Given the description of an element on the screen output the (x, y) to click on. 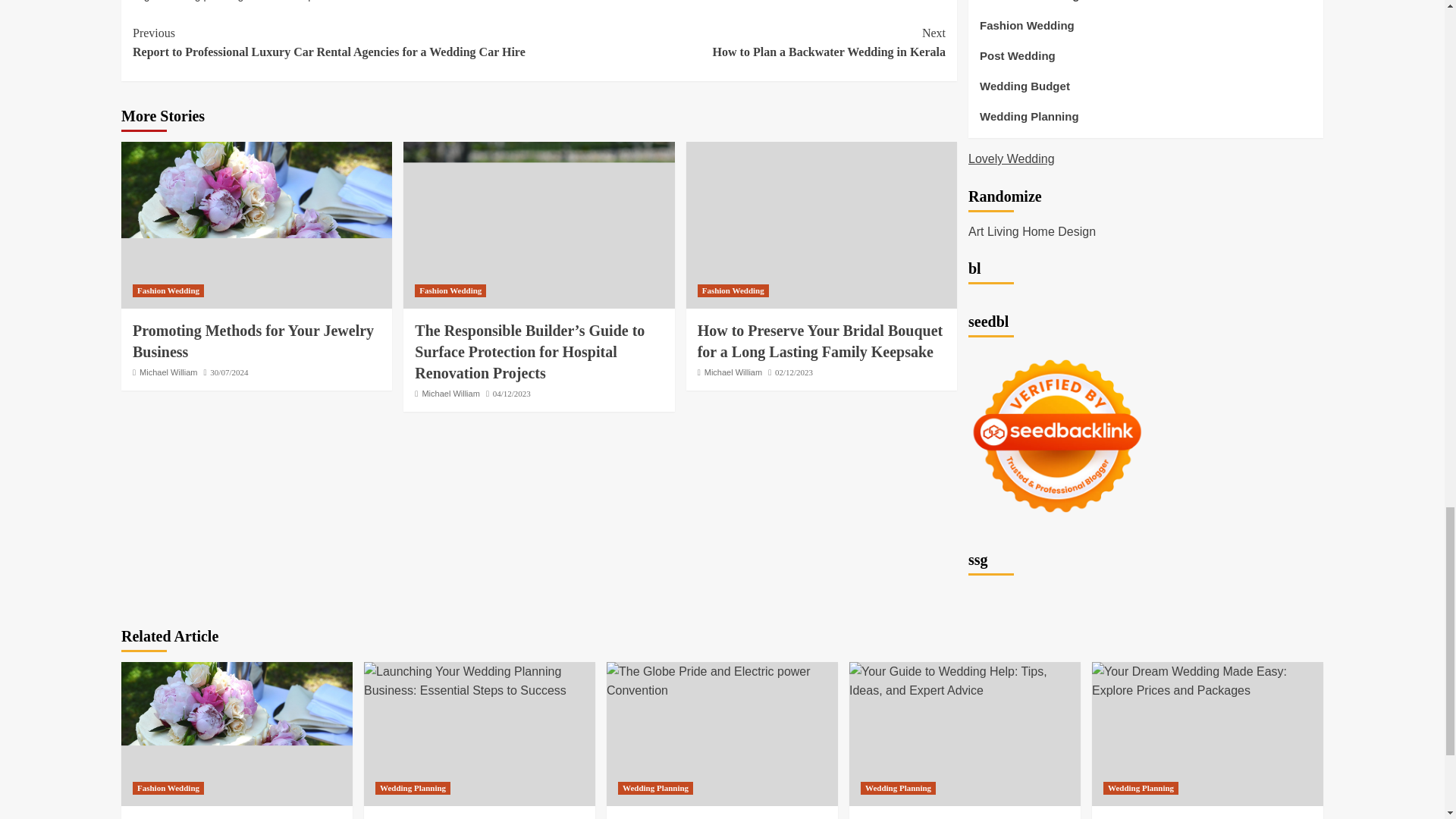
Michael William (450, 393)
Promoting Methods for Your Jewelry Business (236, 733)
Fashion Wedding (450, 290)
Michael William (167, 371)
Fashion Wedding (167, 290)
Seedbacklink (1056, 435)
Promoting Methods for Your Jewelry Business (255, 224)
Promoting Methods for Your Jewelry Business (253, 341)
Michael William (732, 371)
Your Dream Wedding Made Easy: Explore Prices and Packages (1207, 681)
The Globe Pride and Electric power Convention (741, 42)
wedding planning for dummies pdf free download (722, 681)
